Given the description of an element on the screen output the (x, y) to click on. 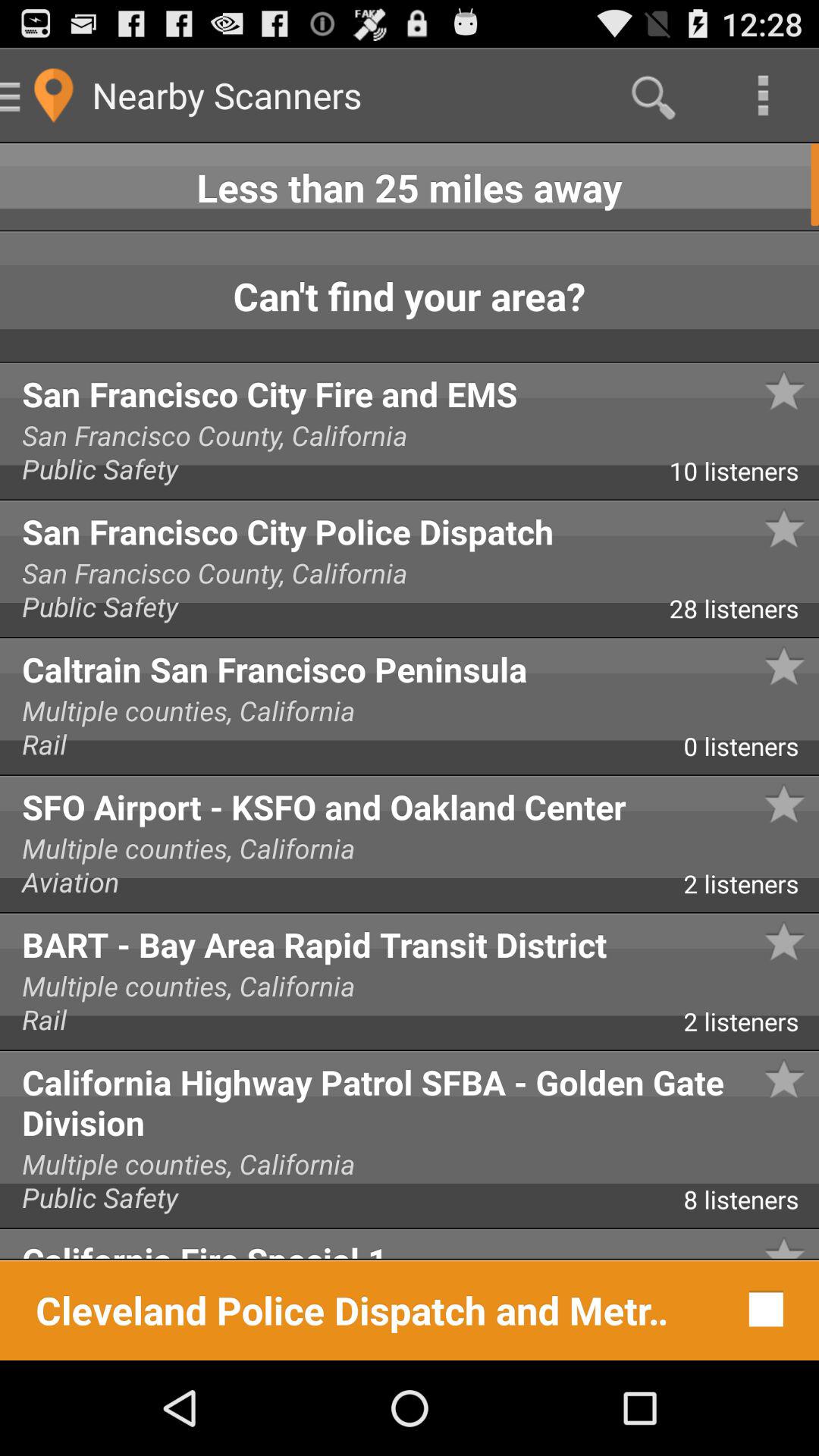
press the 10 listeners item (744, 476)
